Given the description of an element on the screen output the (x, y) to click on. 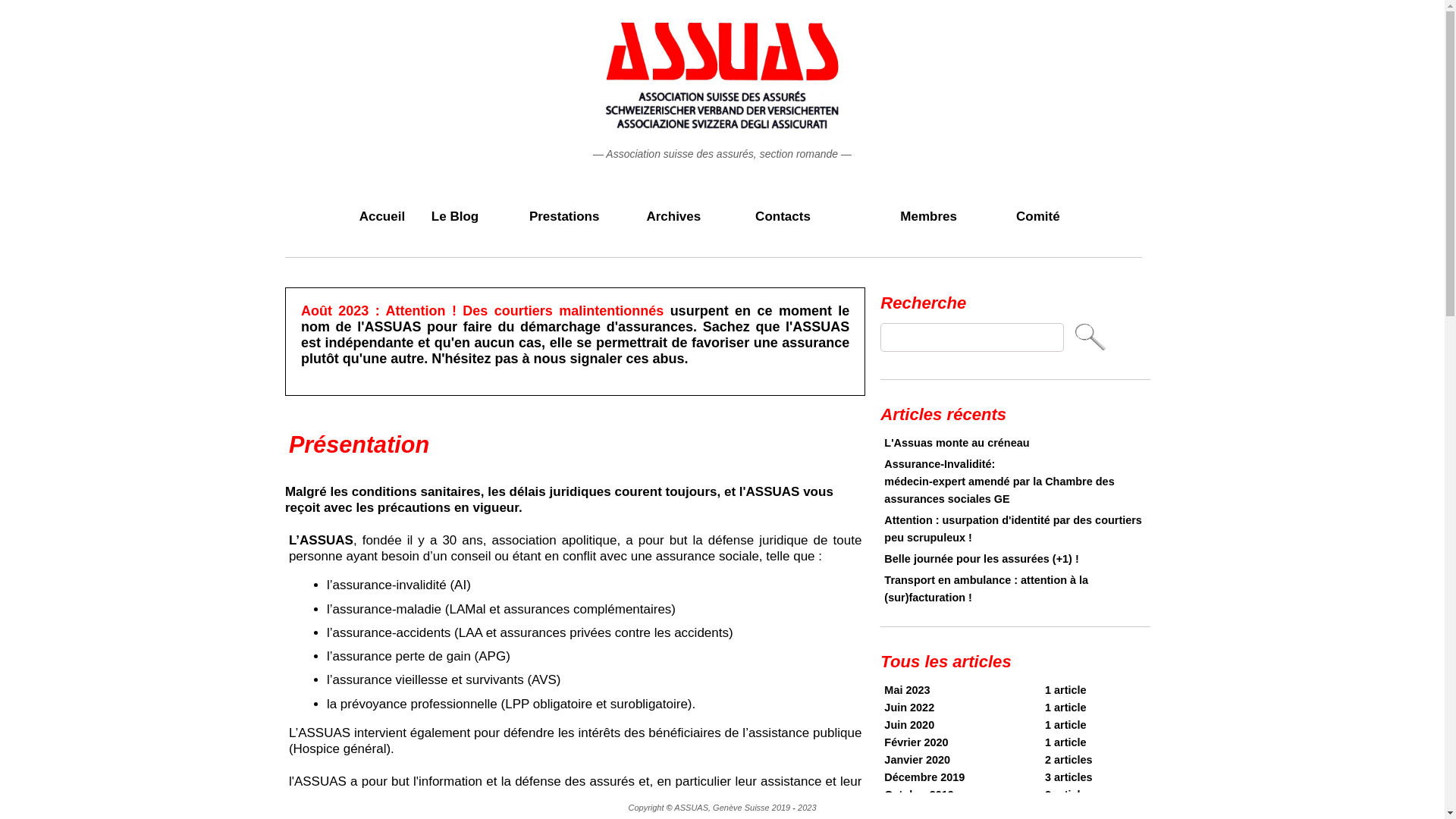
Janvier 2020 Element type: text (917, 759)
Accueil Element type: text (381, 216)
3 articles Element type: text (1068, 777)
Mars 2019 Element type: text (910, 812)
Octobre 2019 Element type: text (918, 794)
Juin 2022 Element type: text (909, 707)
1 article Element type: text (1065, 812)
Le Blog Element type: text (454, 216)
Contacts Element type: text (782, 216)
2 articles Element type: text (1068, 794)
1 article Element type: text (1065, 690)
Membres Element type: text (928, 216)
- Element type: text (793, 807)
1 article Element type: text (1065, 707)
Prestations Element type: text (564, 216)
1 article Element type: text (1065, 724)
2 articles Element type: text (1068, 759)
1 article Element type: text (1065, 742)
Archives Element type: text (673, 216)
Juin 2020 Element type: text (909, 724)
Mai 2023 Element type: text (906, 690)
